Given the description of an element on the screen output the (x, y) to click on. 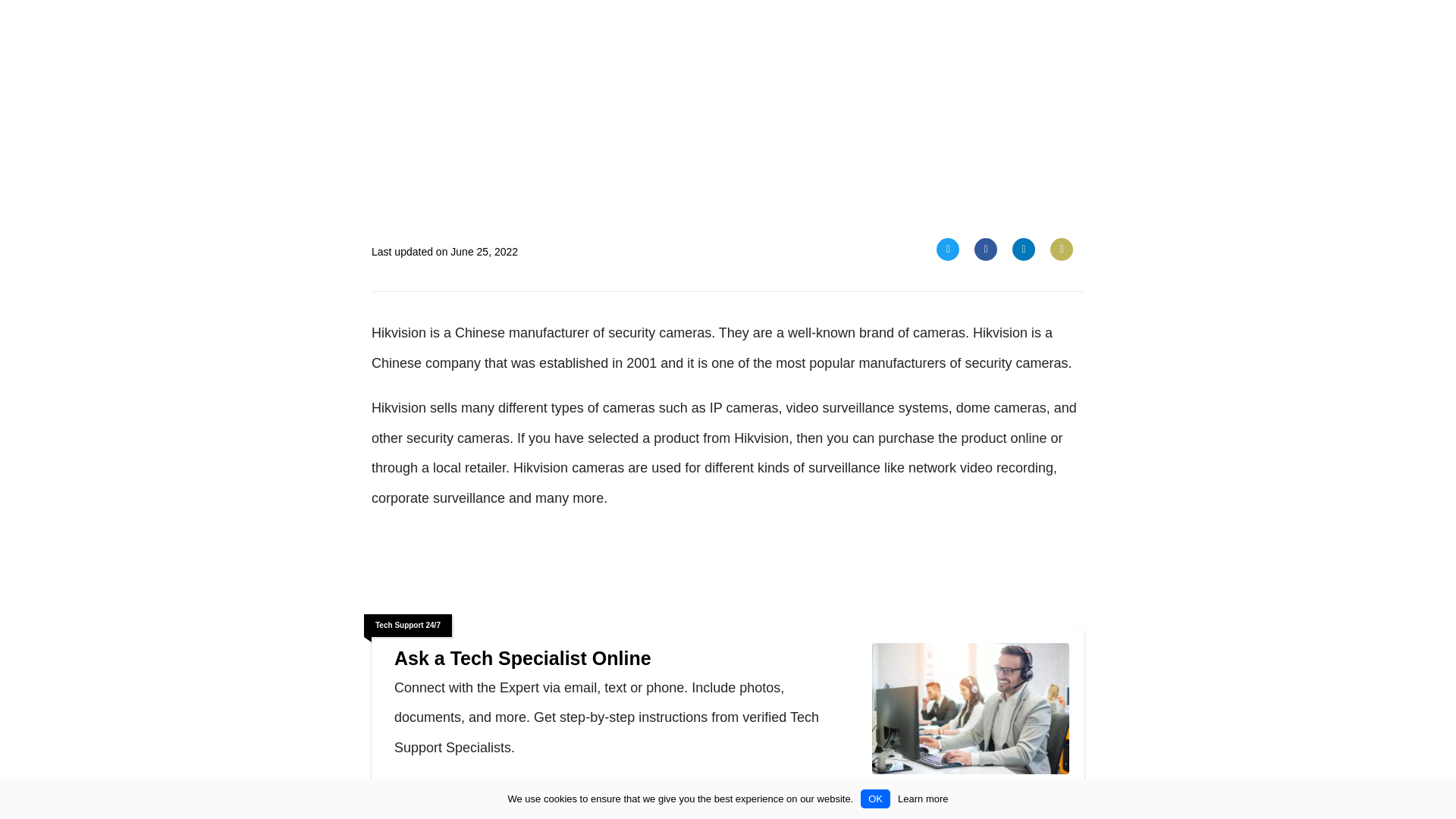
Share on Email (1061, 249)
Ask a Tech Specialist Online (625, 657)
Share on Twitter (947, 249)
Share on LinkedIn (1023, 249)
Share on Facebook (985, 249)
Ask a Tech Specialist Online (970, 711)
Ask a Tech Specialist Online (625, 657)
Ask a Tech Specialist Online (493, 799)
Get Help From a Technician Live (493, 799)
